Given the description of an element on the screen output the (x, y) to click on. 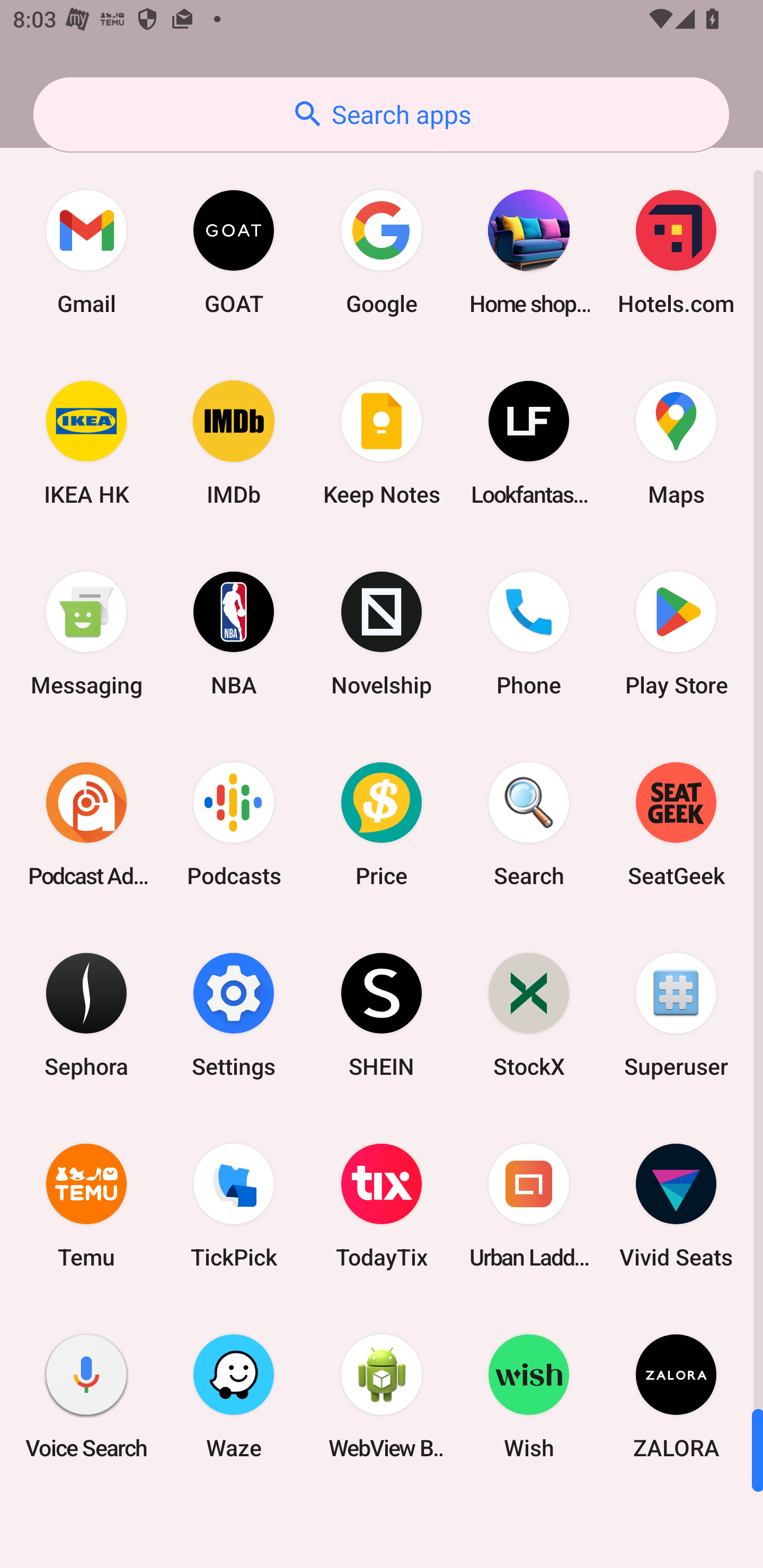
  Search apps (381, 114)
Gmail (86, 252)
GOAT (233, 252)
Google (381, 252)
Home shopping (528, 252)
Hotels.com (676, 252)
IKEA HK (86, 442)
IMDb (233, 442)
Keep Notes (381, 442)
Lookfantastic (528, 442)
Maps (676, 442)
Messaging (86, 633)
NBA (233, 633)
Novelship (381, 633)
Phone (528, 633)
Play Store (676, 633)
Podcast Addict (86, 823)
Podcasts (233, 823)
Price (381, 823)
Search (528, 823)
SeatGeek (676, 823)
Sephora (86, 1014)
Settings (233, 1014)
SHEIN (381, 1014)
StockX (528, 1014)
Superuser (676, 1014)
Temu (86, 1205)
TickPick (233, 1205)
TodayTix (381, 1205)
Urban Ladder (528, 1205)
Vivid Seats (676, 1205)
Voice Search (86, 1396)
Waze (233, 1396)
WebView Browser Tester (381, 1396)
Wish (528, 1396)
ZALORA (676, 1396)
